Given the description of an element on the screen output the (x, y) to click on. 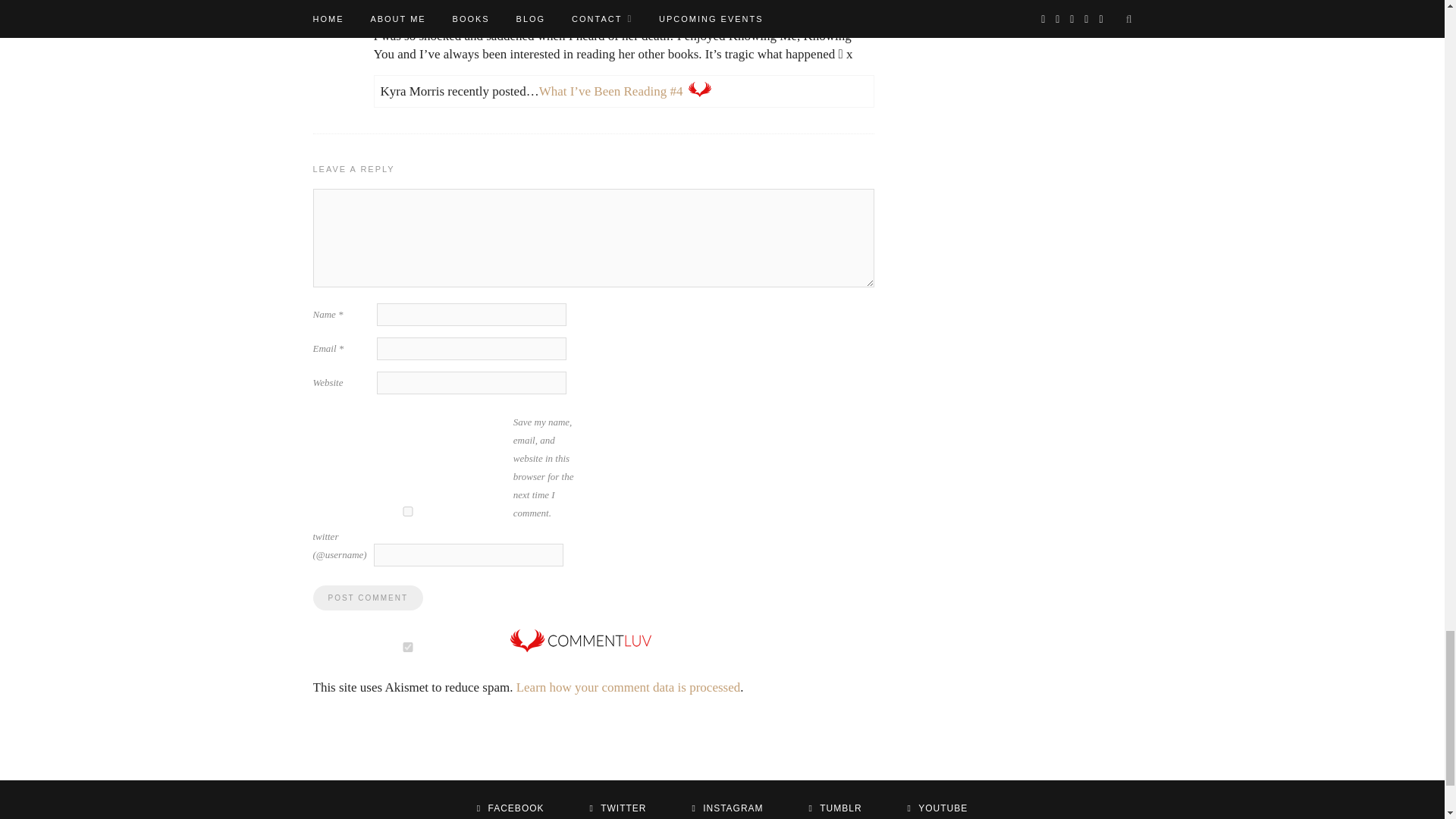
yes (407, 511)
on (407, 646)
Post Comment (367, 597)
